Given the description of an element on the screen output the (x, y) to click on. 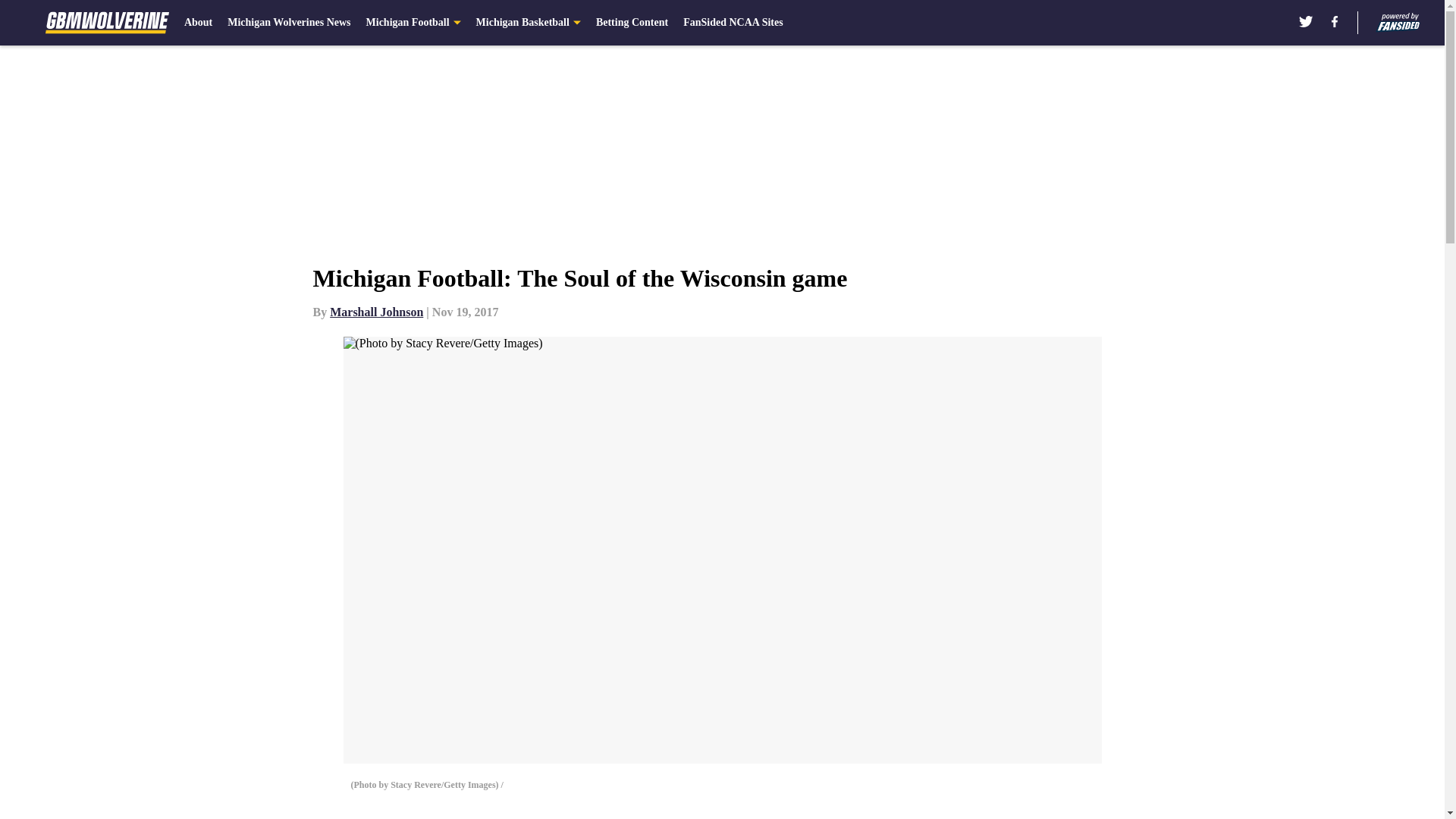
Betting Content (631, 22)
FanSided NCAA Sites (732, 22)
About (198, 22)
Michigan Wolverines News (288, 22)
Marshall Johnson (376, 311)
